Given the description of an element on the screen output the (x, y) to click on. 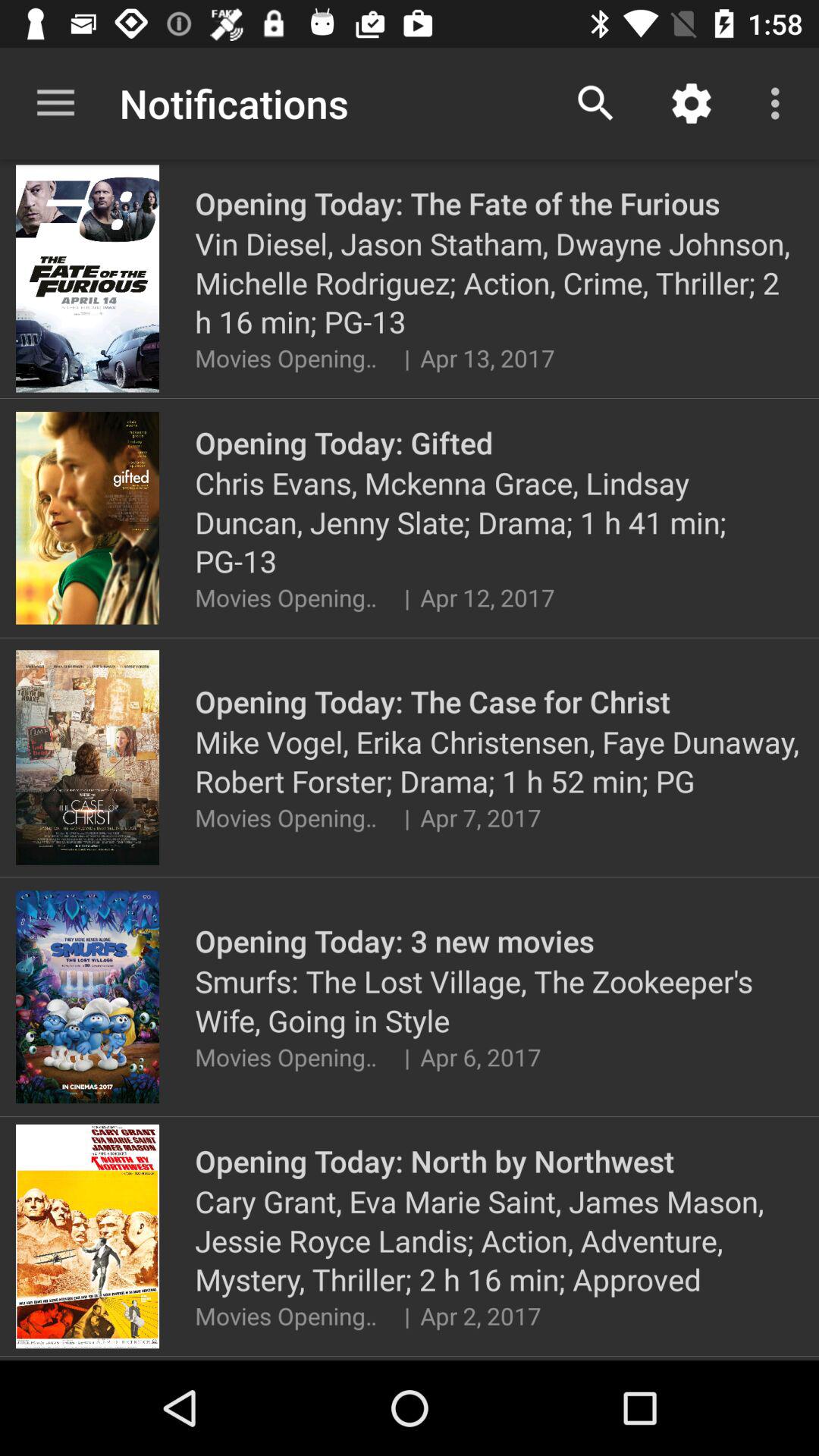
press app next to notifications icon (55, 103)
